Given the description of an element on the screen output the (x, y) to click on. 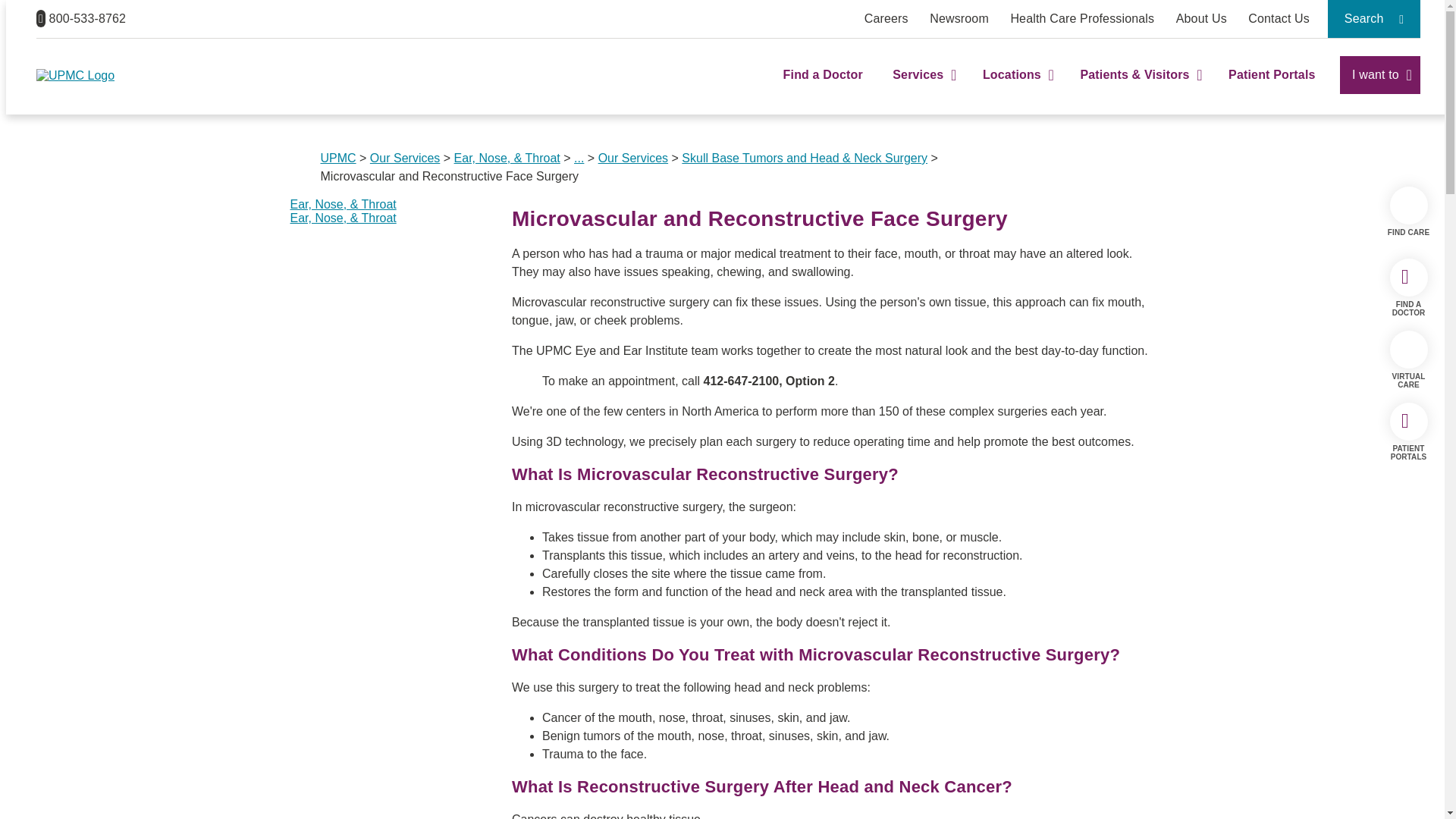
Services (922, 88)
Health Care Professionals (1082, 18)
Search (1374, 18)
Find a Doctor (823, 88)
800-533-8762 (80, 18)
Careers (886, 18)
About Us (1201, 18)
Learn more about careers and job openings at UPMC. (886, 18)
UPMC (75, 74)
Newsroom (959, 18)
